Given the description of an element on the screen output the (x, y) to click on. 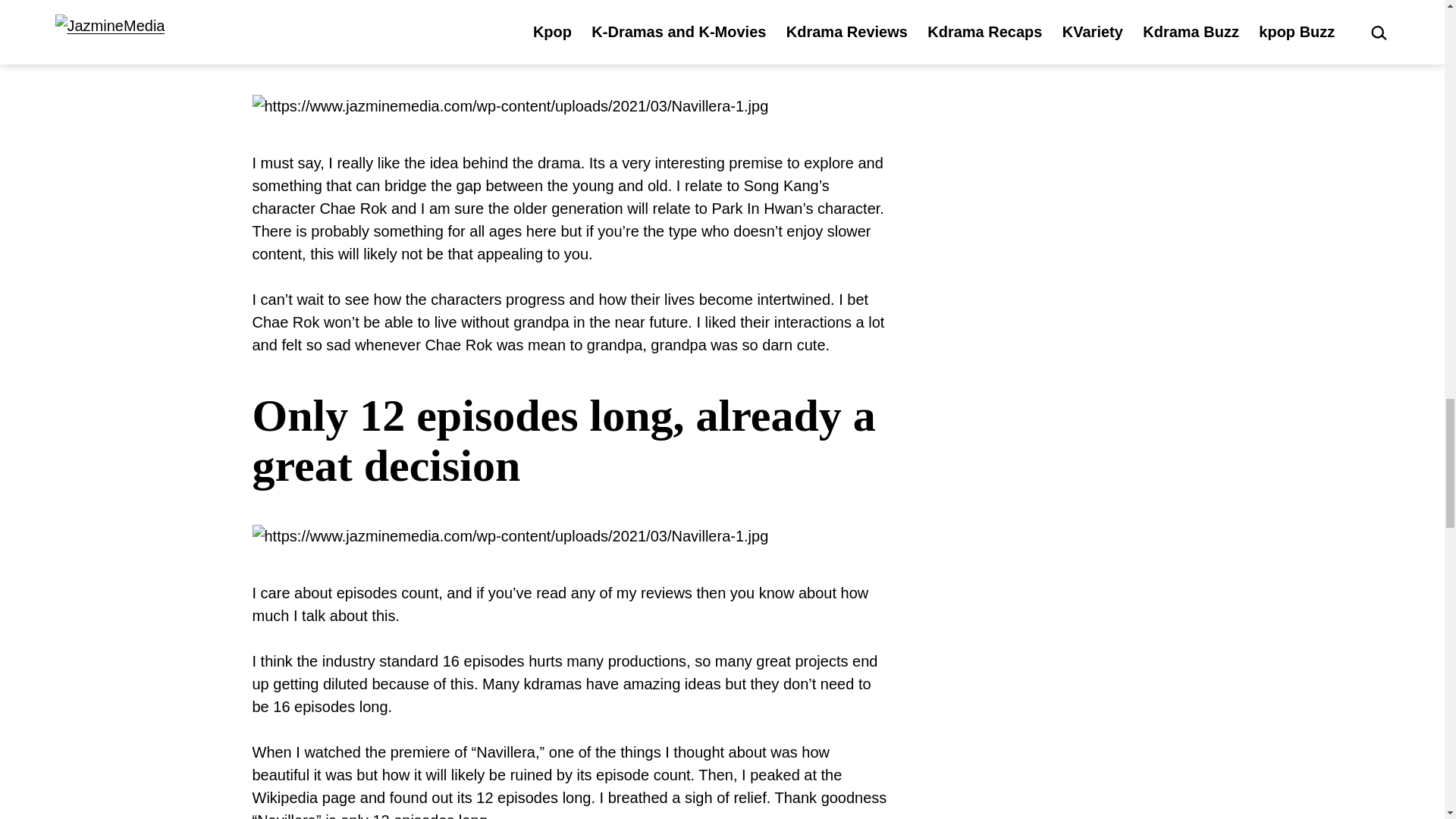
Navillera 5 (509, 535)
Navillera 1 1 (509, 106)
